Given the description of an element on the screen output the (x, y) to click on. 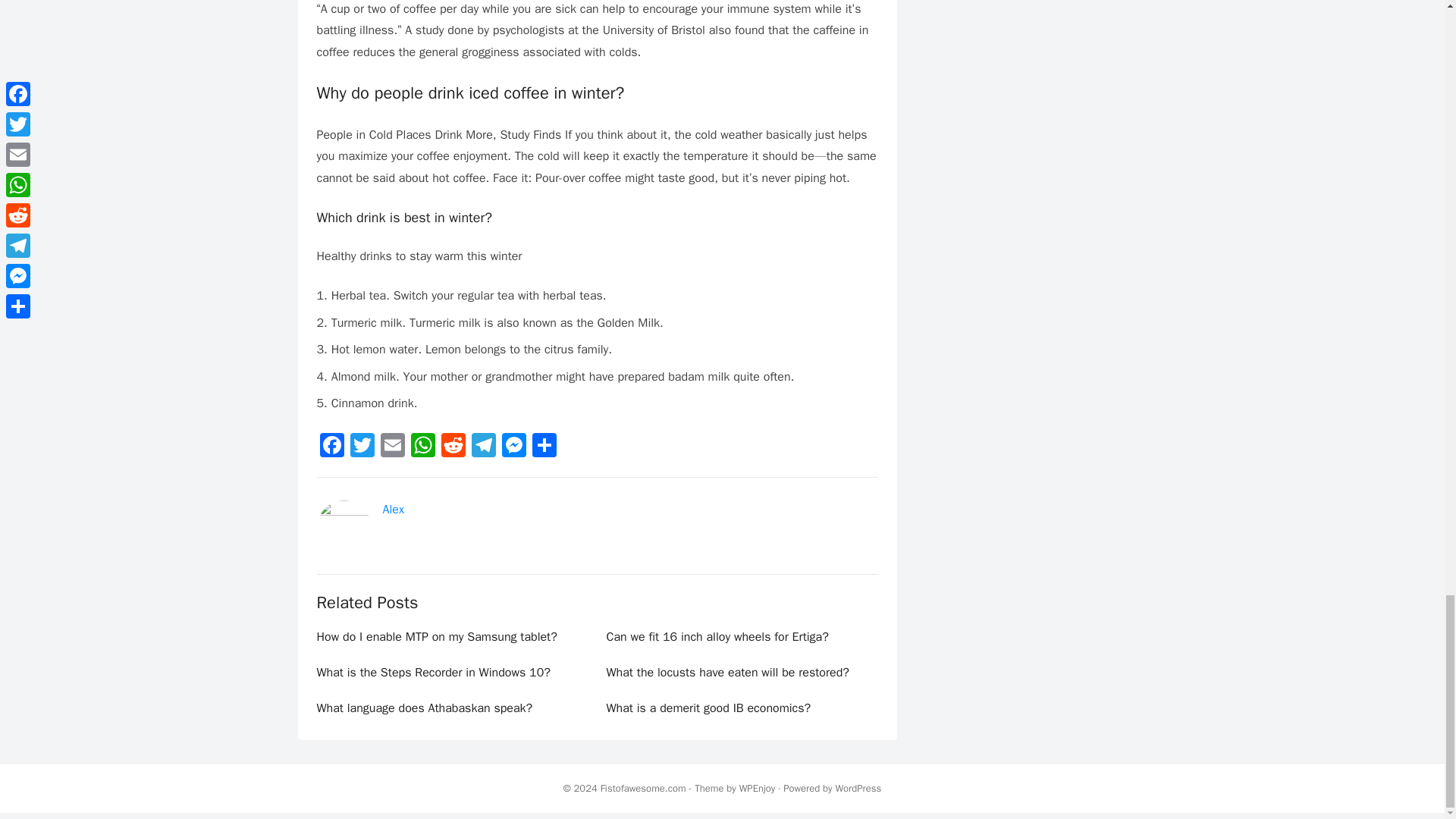
Facebook (332, 447)
Twitter (362, 447)
Facebook (332, 447)
WhatsApp (422, 447)
Reddit (453, 447)
Twitter (362, 447)
Telegram (483, 447)
Telegram (483, 447)
Reddit (453, 447)
Email (392, 447)
